Given the description of an element on the screen output the (x, y) to click on. 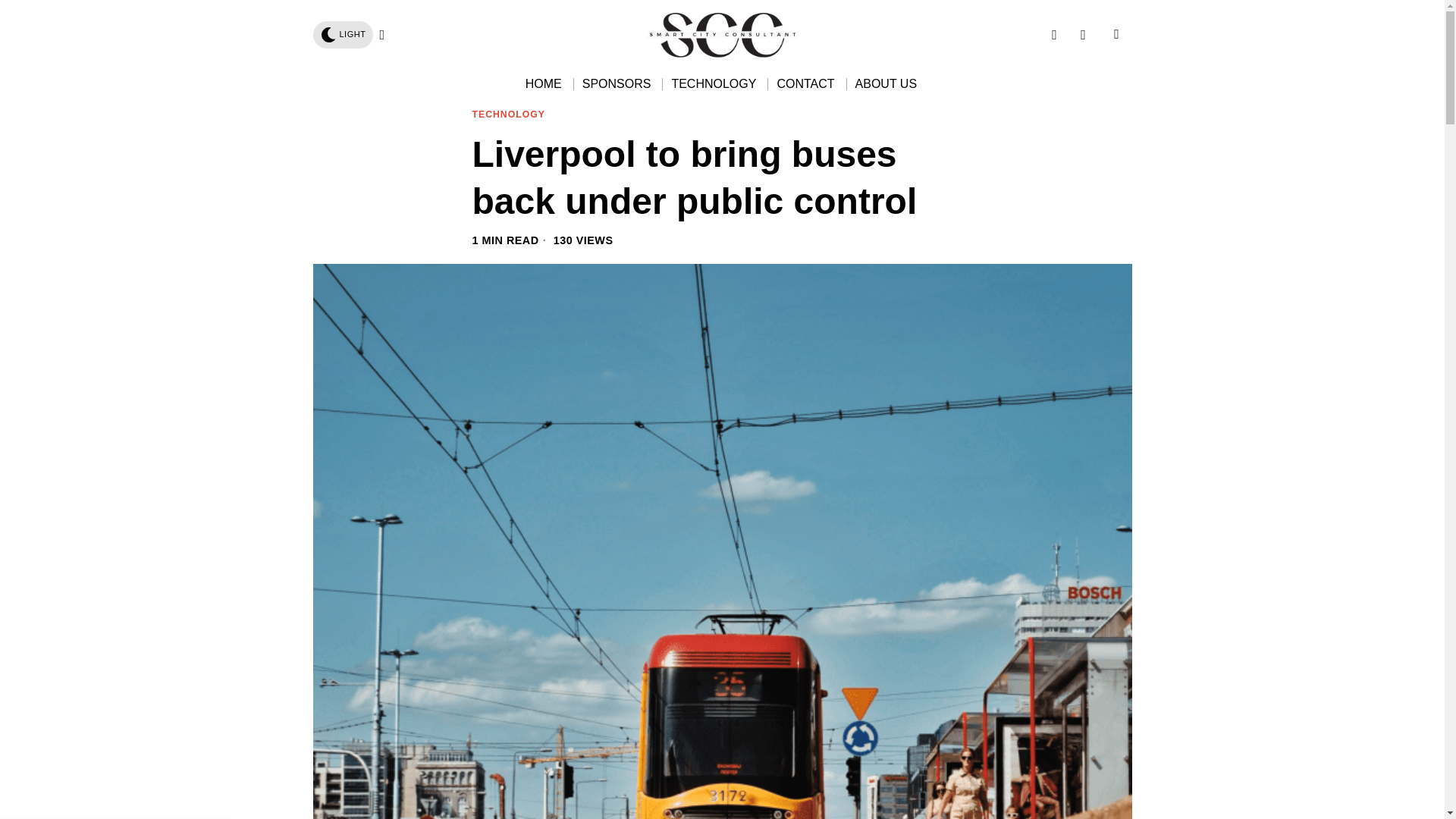
TECHNOLOGY (714, 83)
TECHNOLOGY (507, 115)
SPONSORS (617, 83)
CONTACT (806, 83)
ABOUT US (886, 83)
HOME (544, 83)
